Given the description of an element on the screen output the (x, y) to click on. 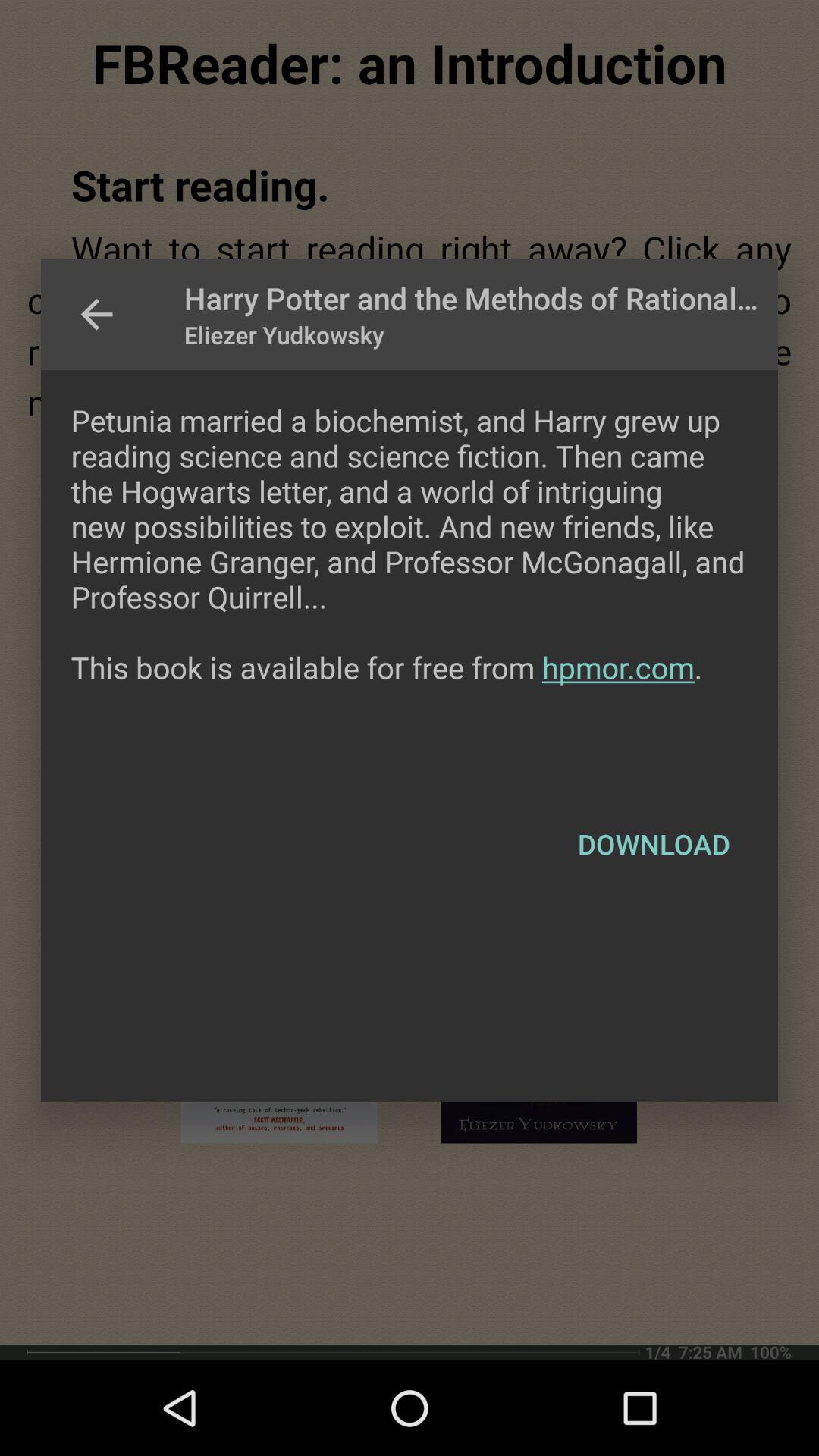
tap the item at the center (409, 579)
